Given the description of an element on the screen output the (x, y) to click on. 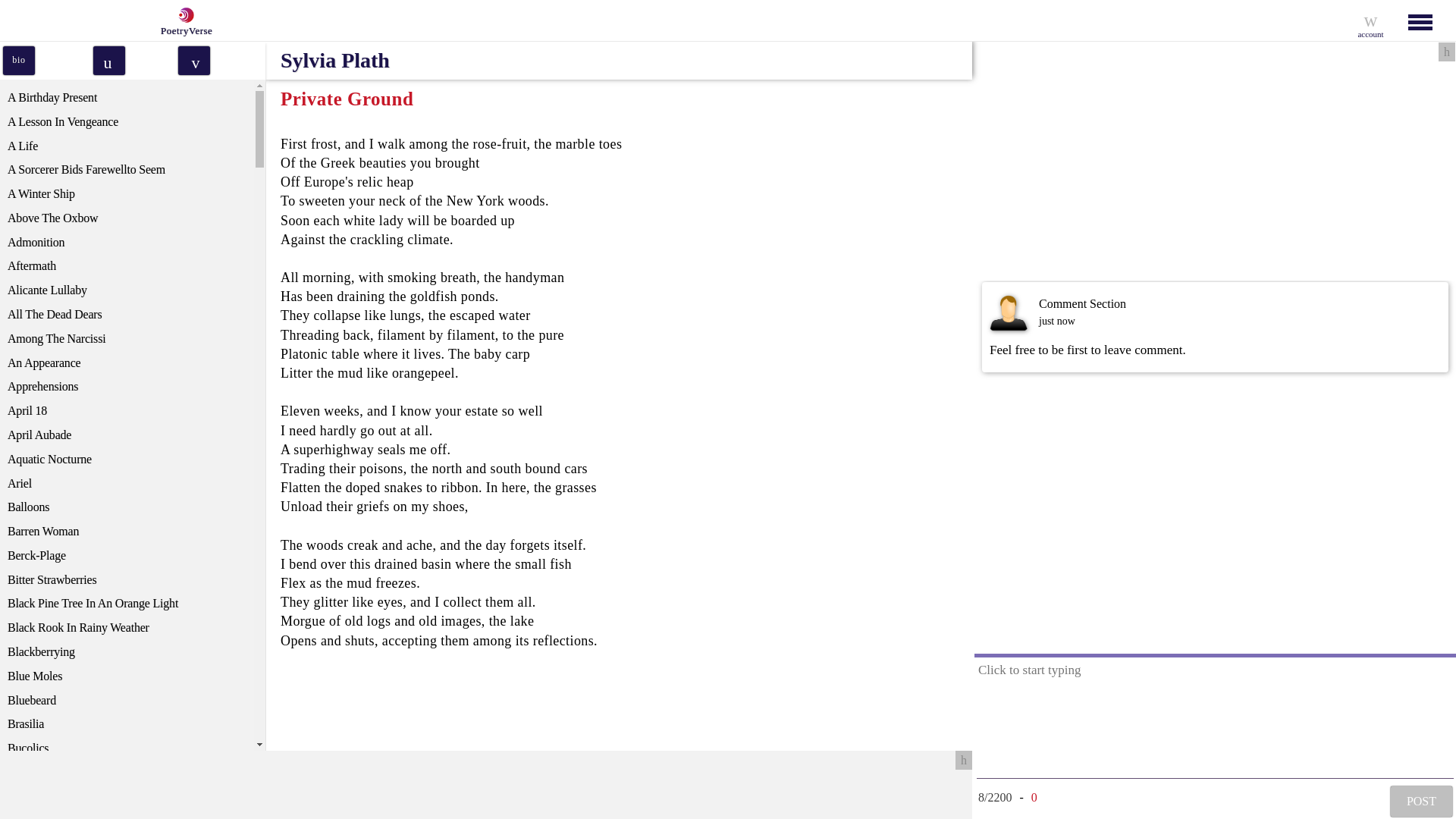
PoetryVerse (182, 20)
user widget button (1370, 20)
Poetry Verse Logo (183, 15)
